Given the description of an element on the screen output the (x, y) to click on. 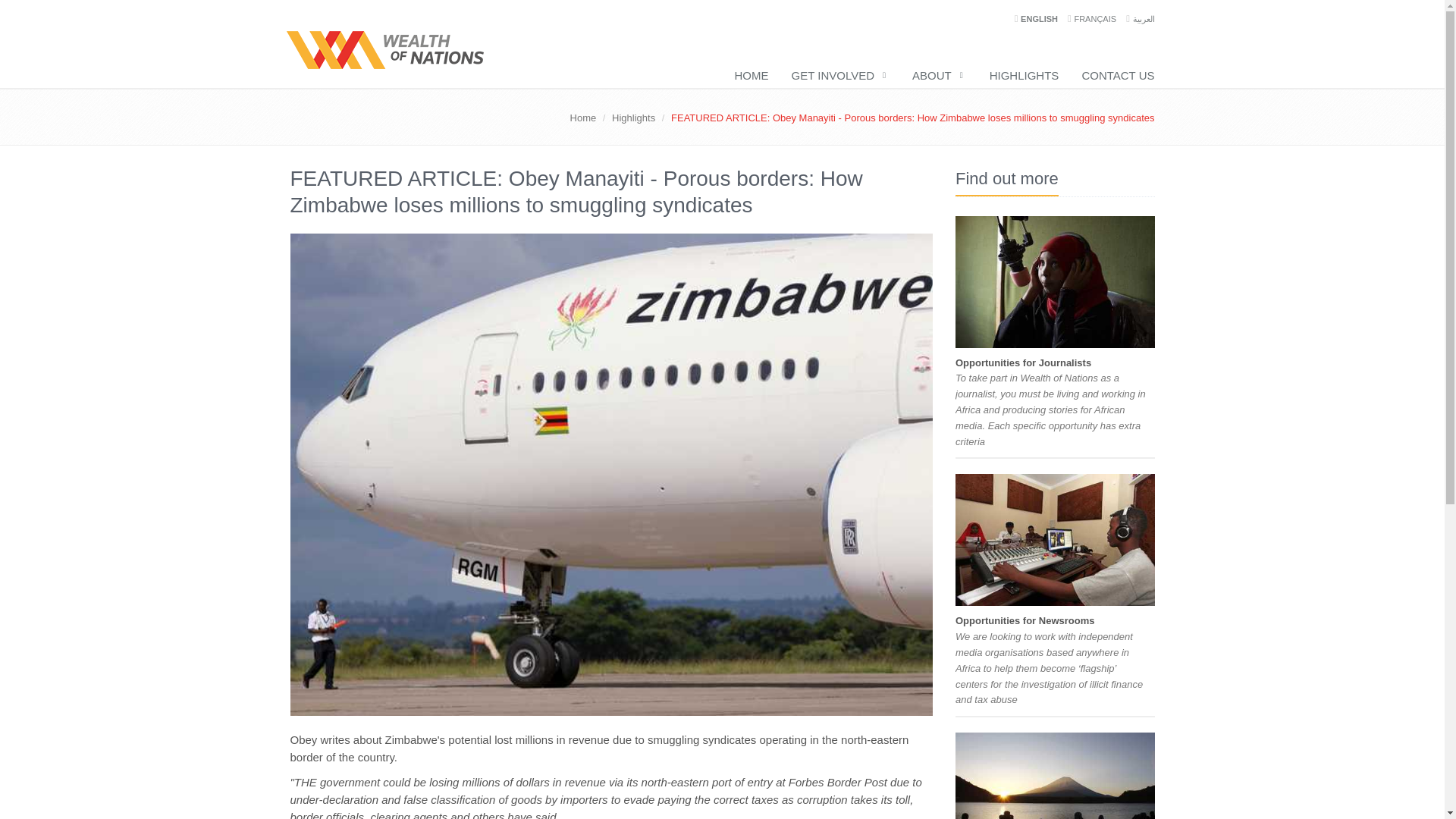
HOME (747, 75)
HIGHLIGHTS (1020, 75)
Highlights (633, 117)
Home (583, 117)
ABOUT (935, 75)
GET INVOLVED (836, 75)
ENGLISH (1039, 18)
CONTACT US (1109, 75)
